Given the description of an element on the screen output the (x, y) to click on. 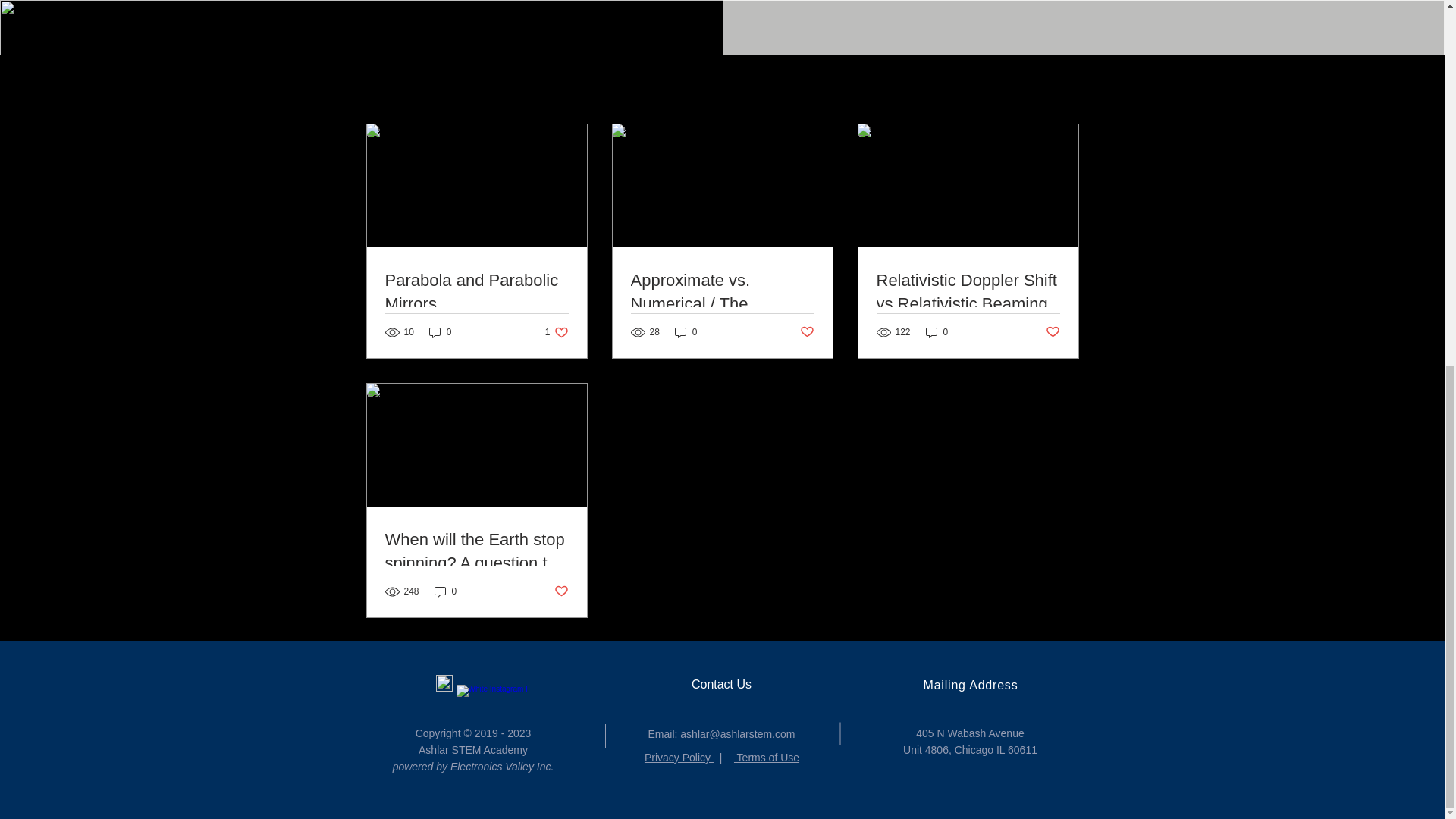
Terms of Use (766, 757)
Post not marked as liked (560, 591)
0 (937, 332)
Relativistic Doppler Shift vs Relativistic Beaming (967, 292)
0 (440, 332)
Parabola and Parabolic Mirrors (477, 292)
Post not marked as liked (1052, 332)
0 (685, 332)
Post not marked as liked (806, 332)
Privacy Policy (679, 757)
0 (445, 591)
